Given the description of an element on the screen output the (x, y) to click on. 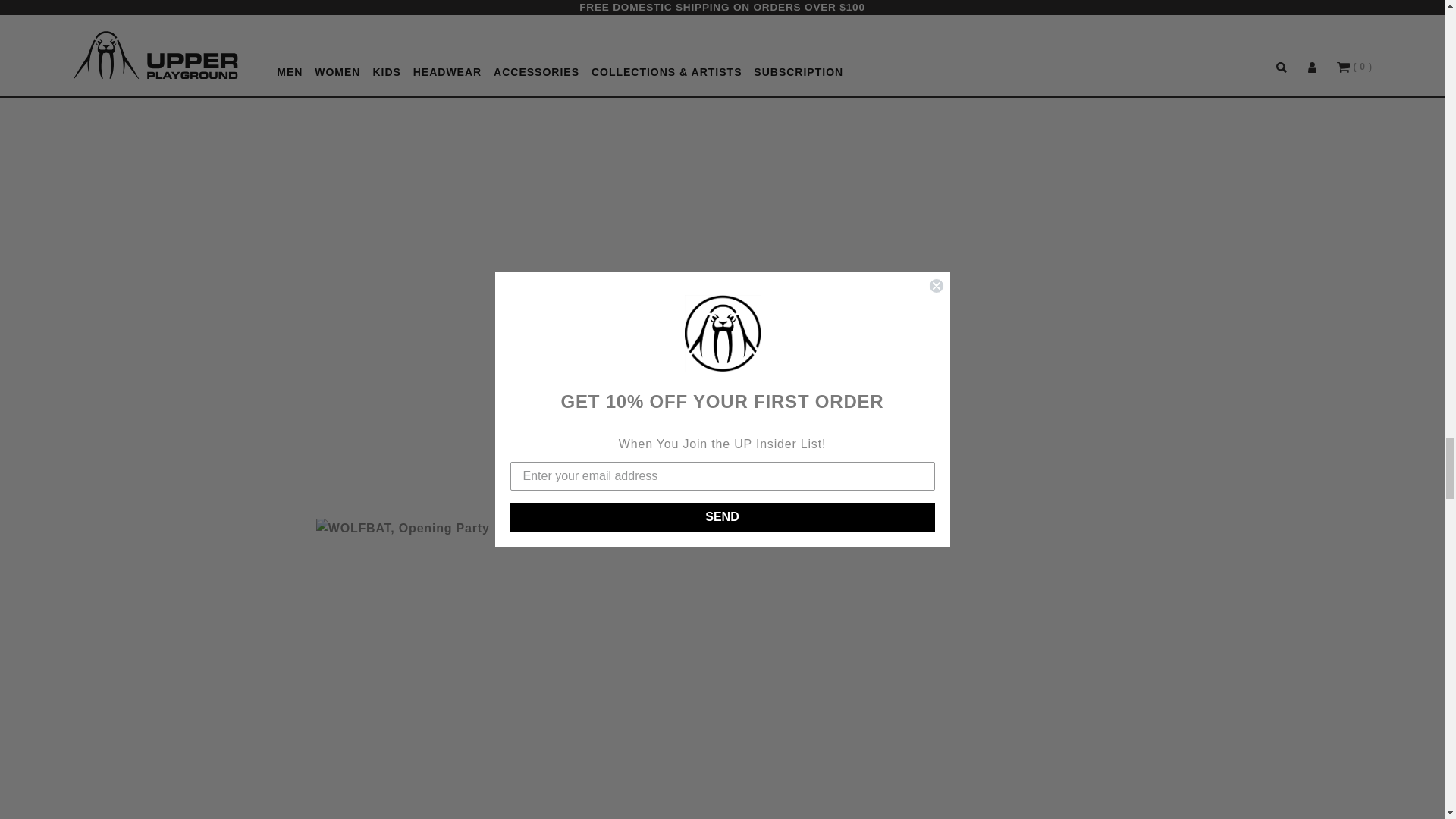
WOLFBAT, Opening Party (505, 660)
